Given the description of an element on the screen output the (x, y) to click on. 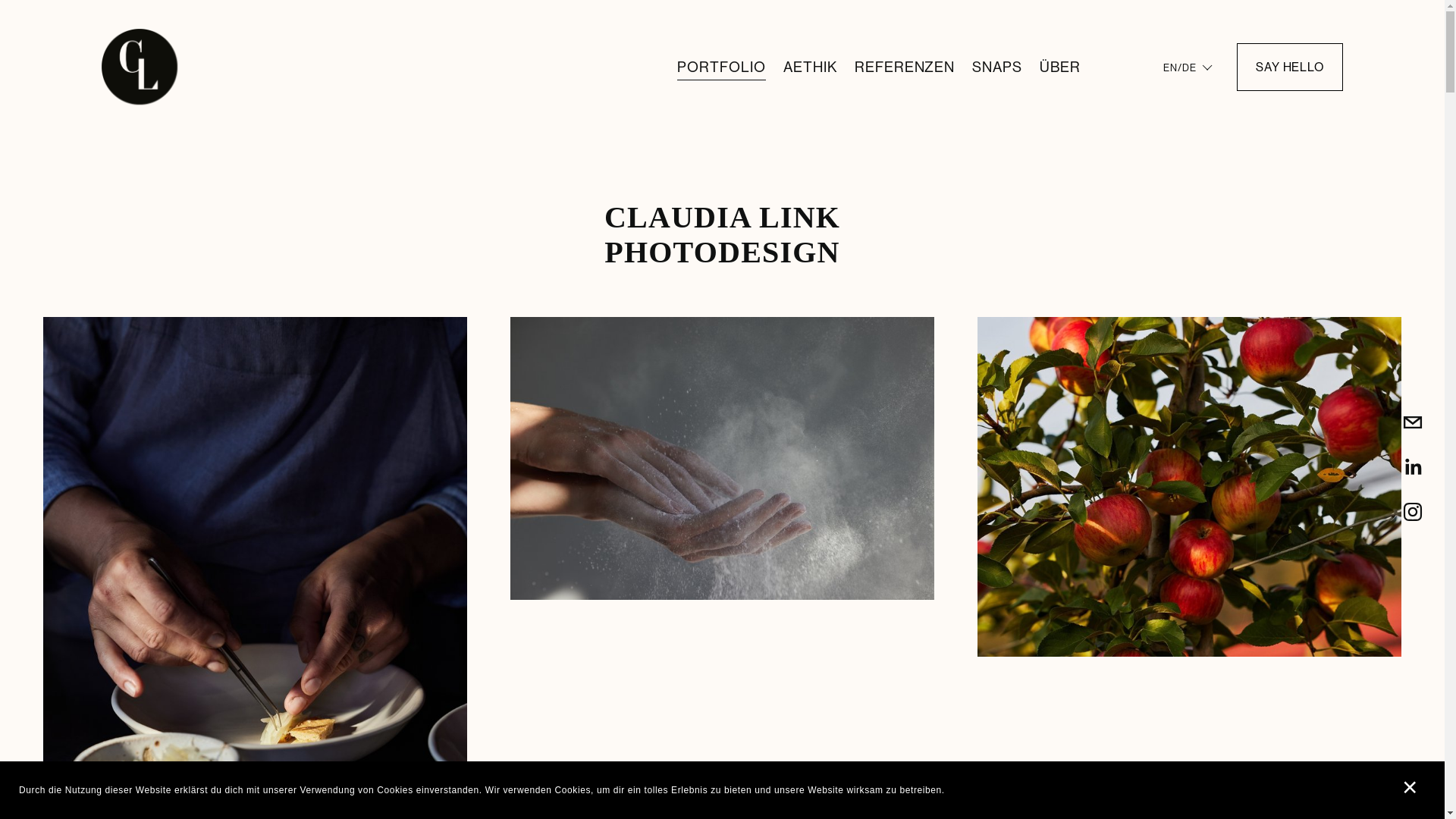
AETHIK Element type: text (810, 66)
SAY HELLO Element type: text (1289, 67)
REFERENZEN Element type: text (904, 66)
SNAPS Element type: text (997, 66)
PORTFOLIO Element type: text (721, 66)
